Given the description of an element on the screen output the (x, y) to click on. 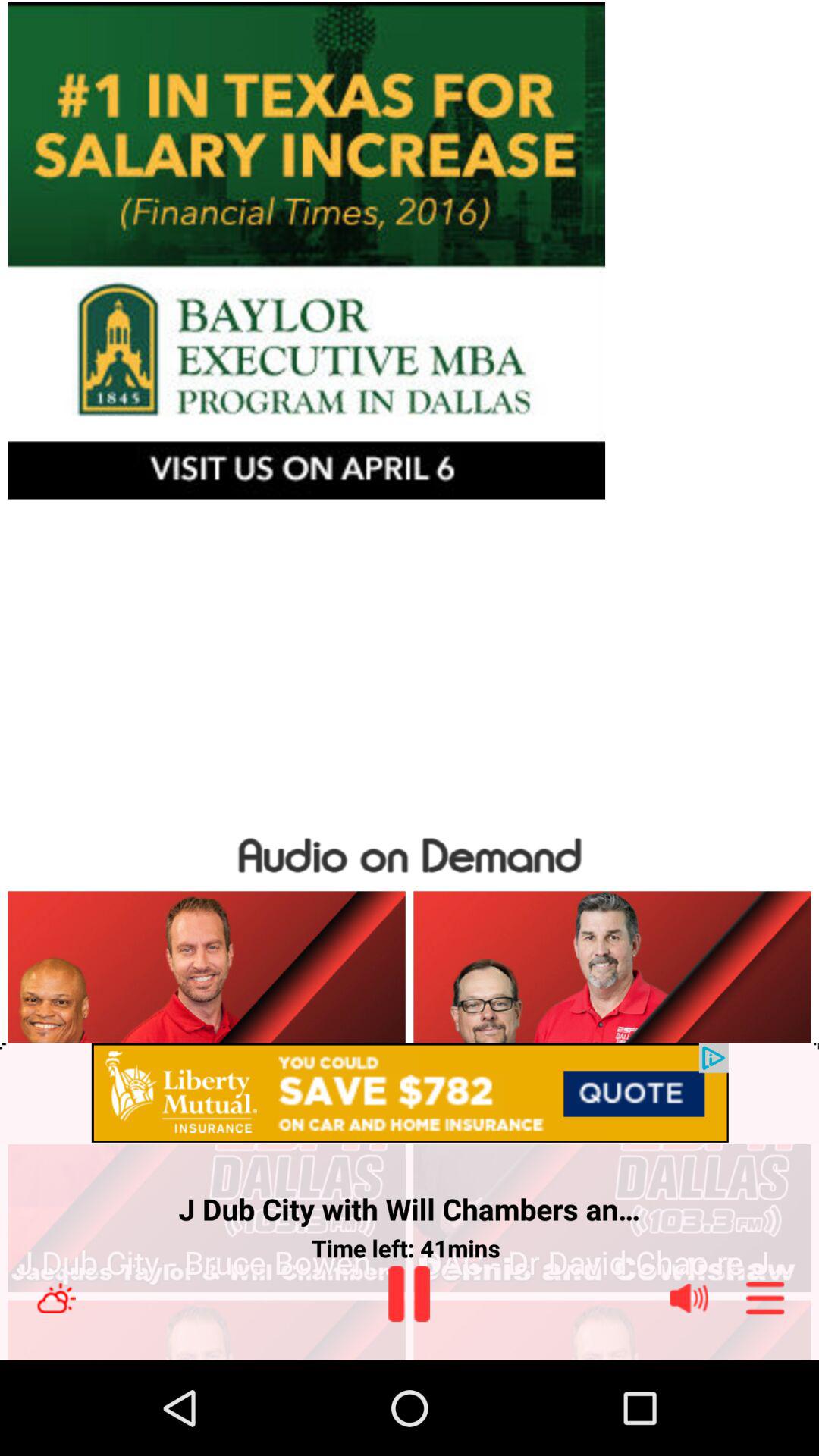
launch app below the j dub city icon (612, 1262)
